Given the description of an element on the screen output the (x, y) to click on. 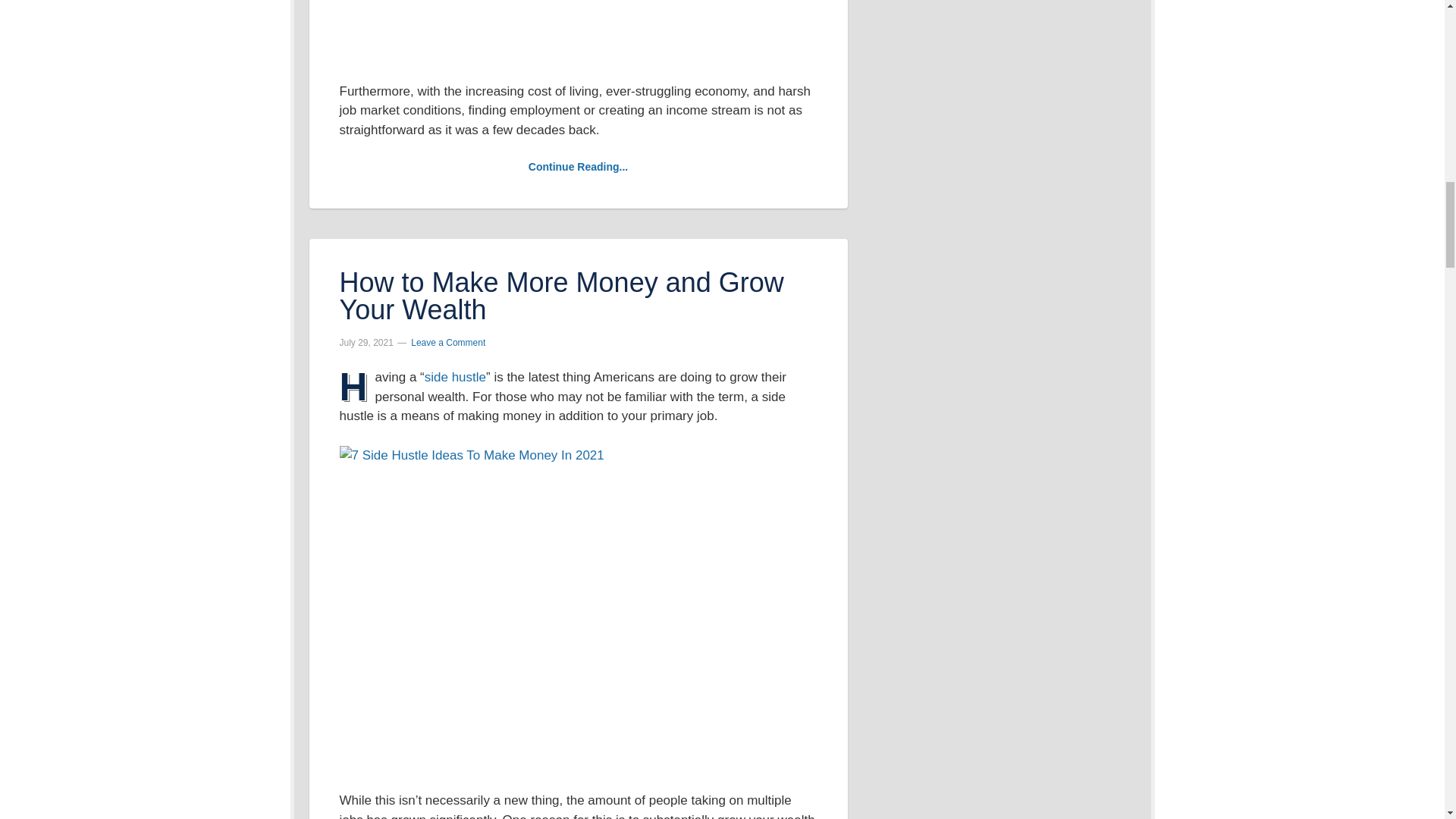
Leave a Comment (447, 342)
How to Make More Money and Grow Your Wealth (561, 295)
Continue Reading... (577, 166)
side hustle (455, 377)
